Given the description of an element on the screen output the (x, y) to click on. 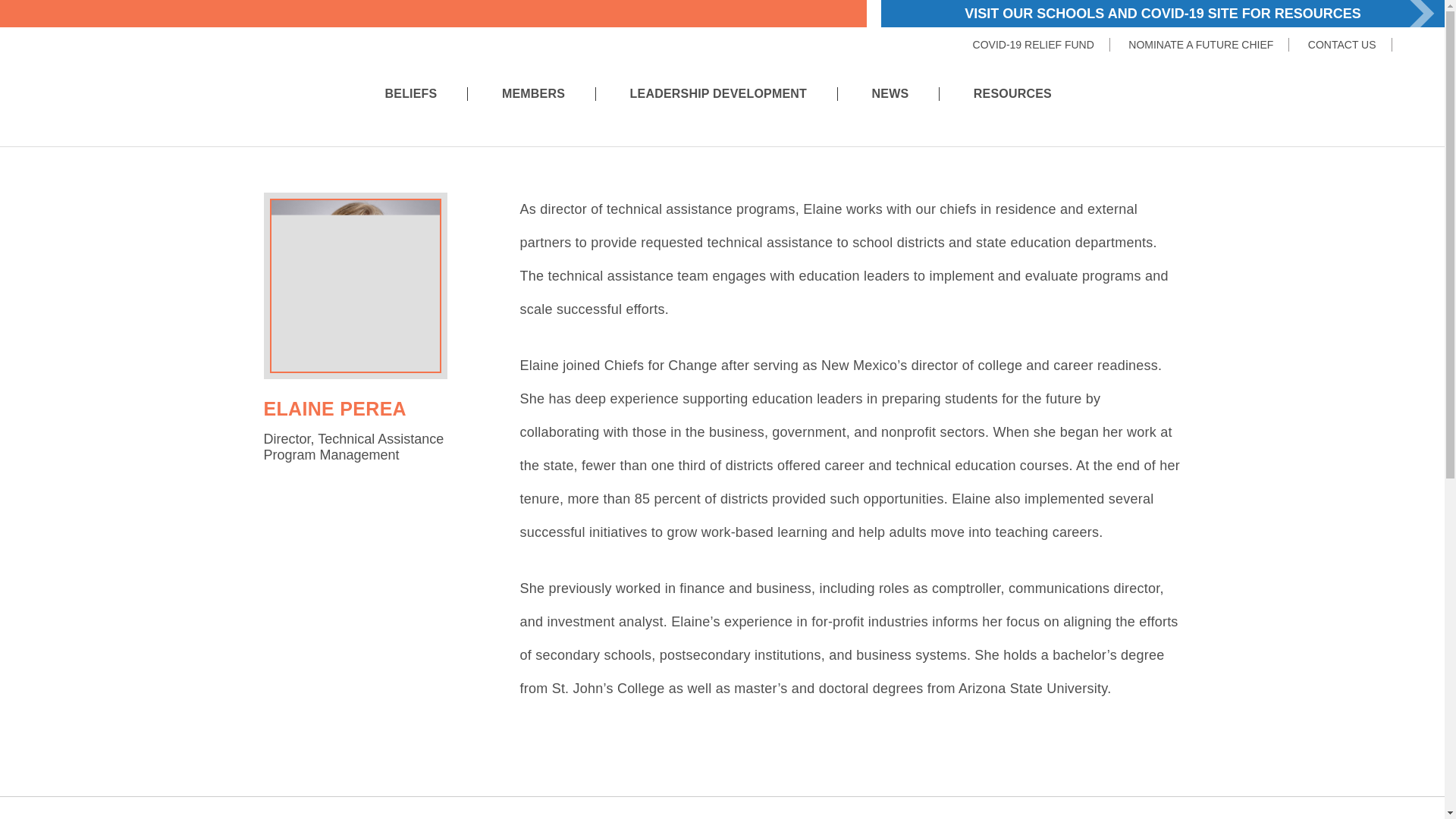
MEMBERS (533, 93)
CONTACT US (1341, 44)
BELIEFS (411, 93)
NEWS (890, 93)
NOMINATE A FUTURE CHIEF (1200, 44)
RESOURCES (1012, 93)
COVID-19 RELIEF FUND (1033, 44)
LEADERSHIP DEVELOPMENT (718, 93)
